Given the description of an element on the screen output the (x, y) to click on. 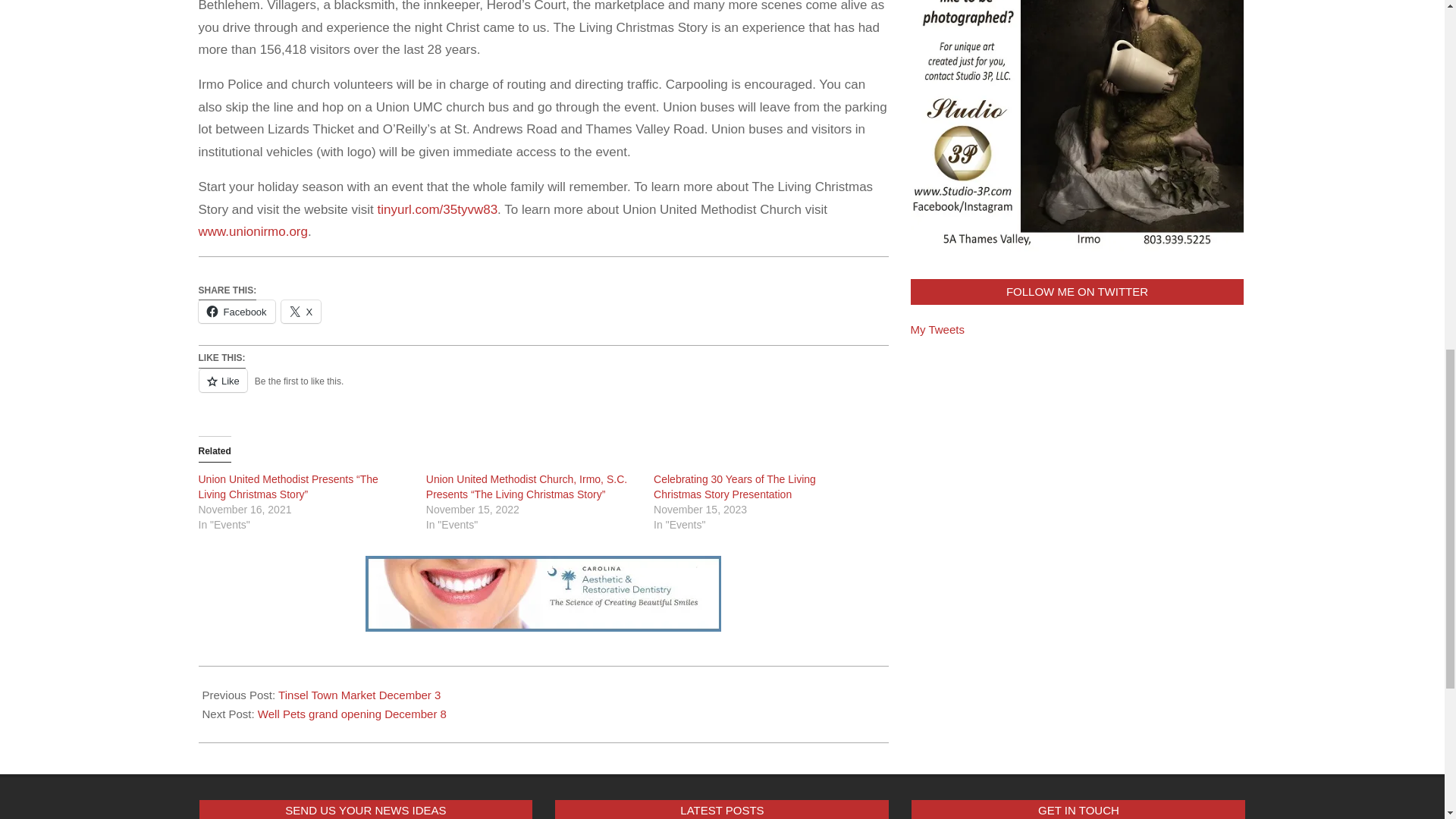
Like or Reblog (543, 389)
www.unionirmo.org (252, 231)
Facebook (236, 311)
X (301, 311)
Click to share on X (301, 311)
Click to share on Facebook (236, 311)
